Given the description of an element on the screen output the (x, y) to click on. 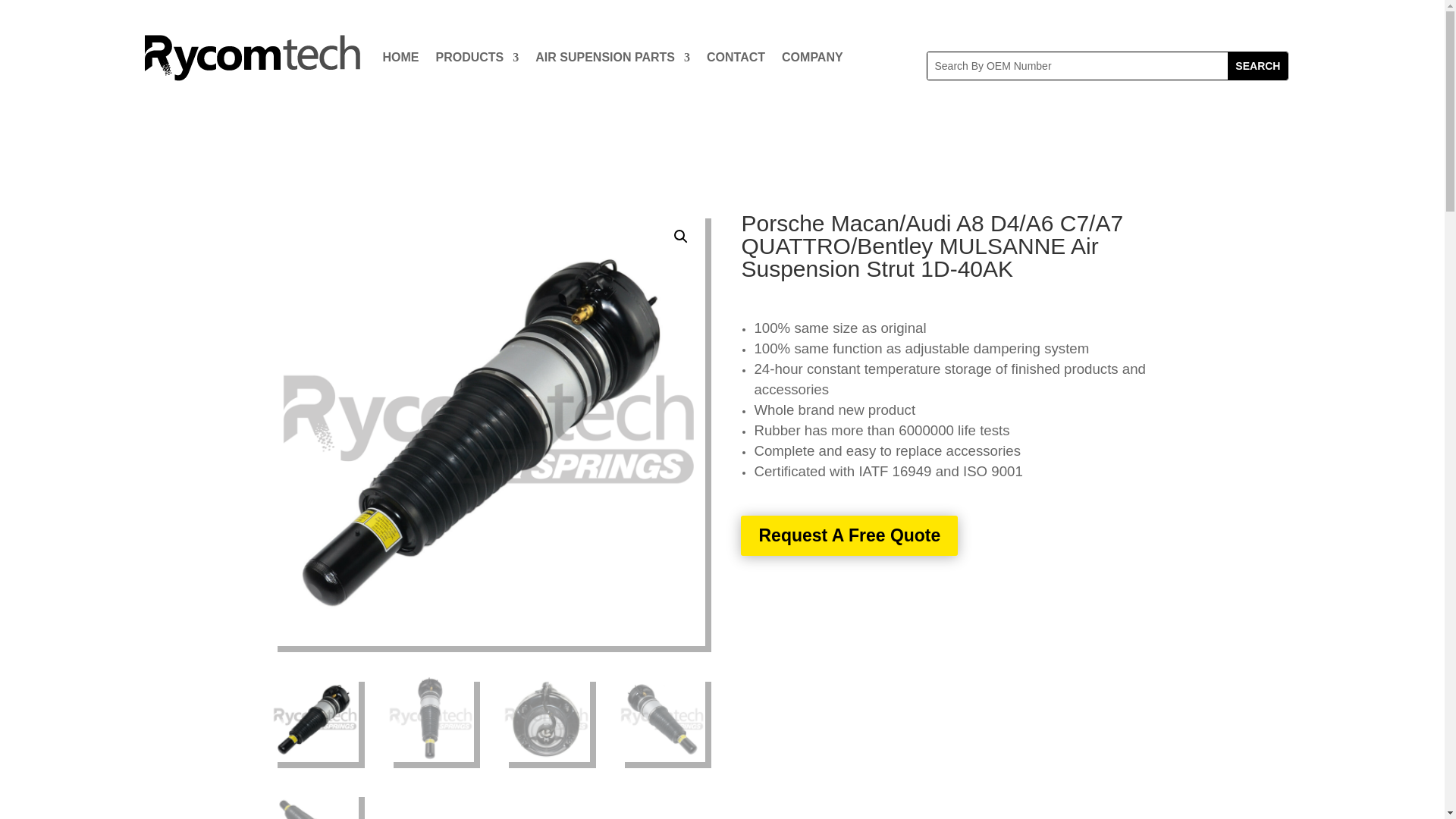
PRODUCTS (476, 57)
Search (1257, 65)
Search (1257, 65)
